Given the description of an element on the screen output the (x, y) to click on. 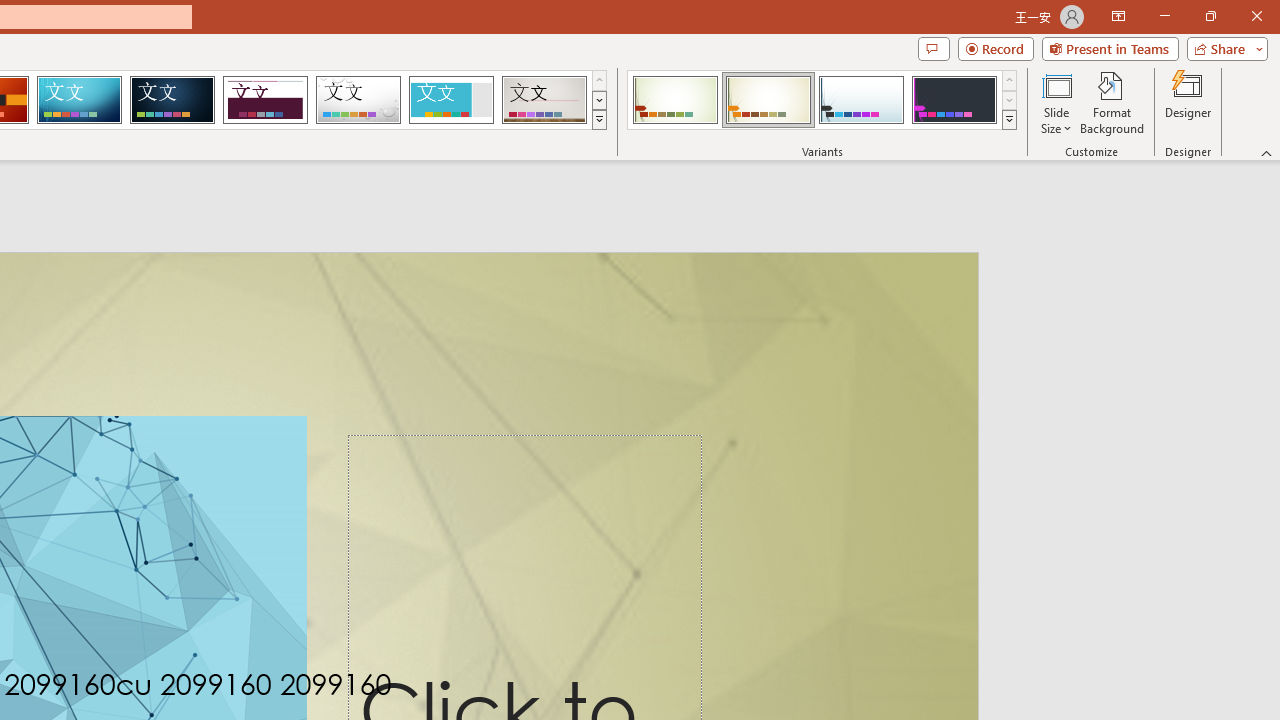
Frame Loading Preview... (450, 100)
Themes (598, 120)
Wisp Variant 2 (768, 100)
Wisp Variant 1 (674, 100)
Gallery Loading Preview... (544, 100)
Dividend Loading Preview... (265, 100)
Wisp Variant 4 (953, 100)
AutomationID: ThemeVariantsGallery (822, 99)
Circuit Loading Preview... (79, 100)
Damask Loading Preview... (171, 100)
